Given the description of an element on the screen output the (x, y) to click on. 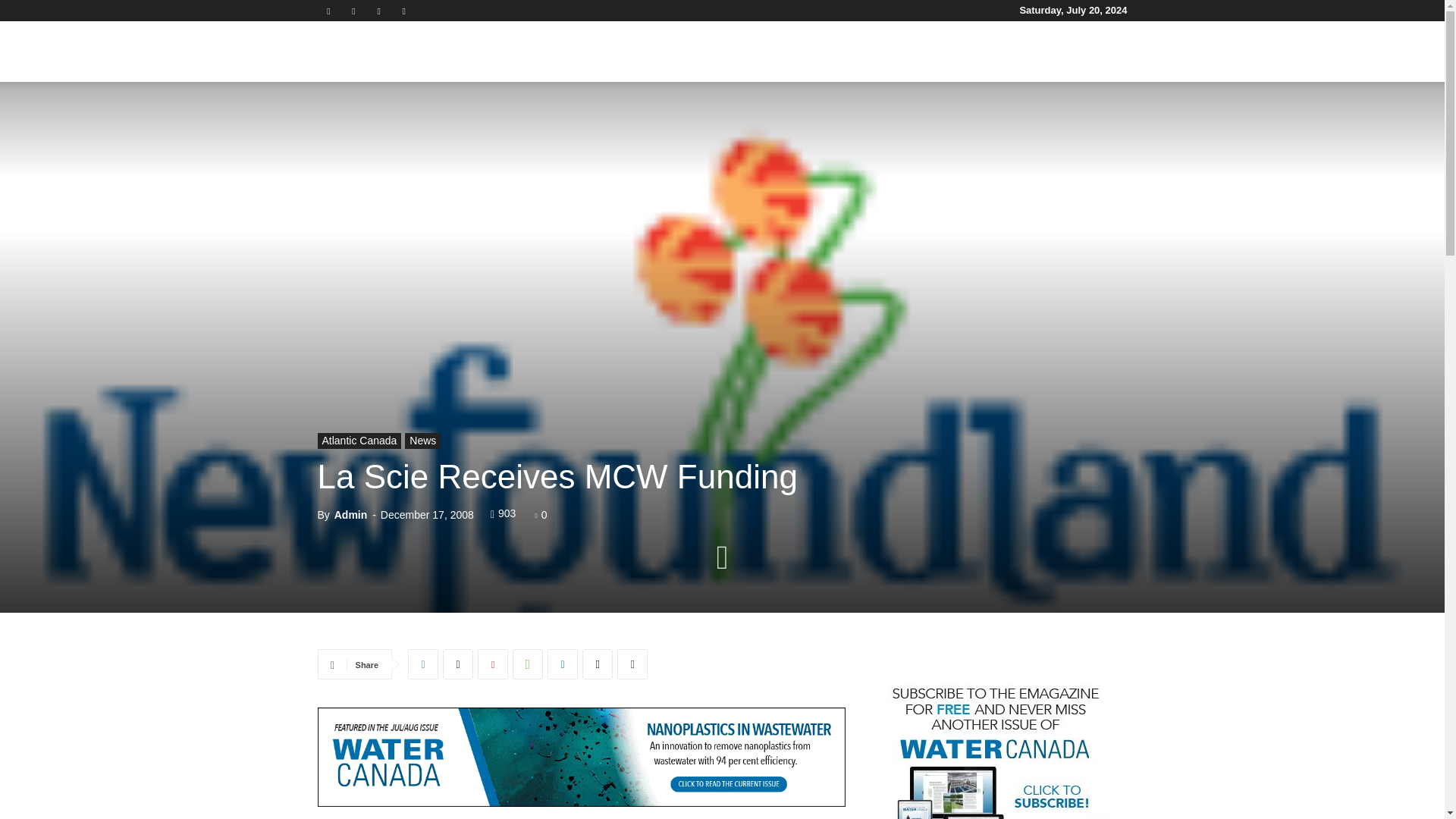
NEWS (570, 51)
Facebook (328, 10)
Water Canada (401, 51)
Youtube (403, 10)
Twitter (379, 10)
Search (1085, 124)
Linkedin (353, 10)
